Given the description of an element on the screen output the (x, y) to click on. 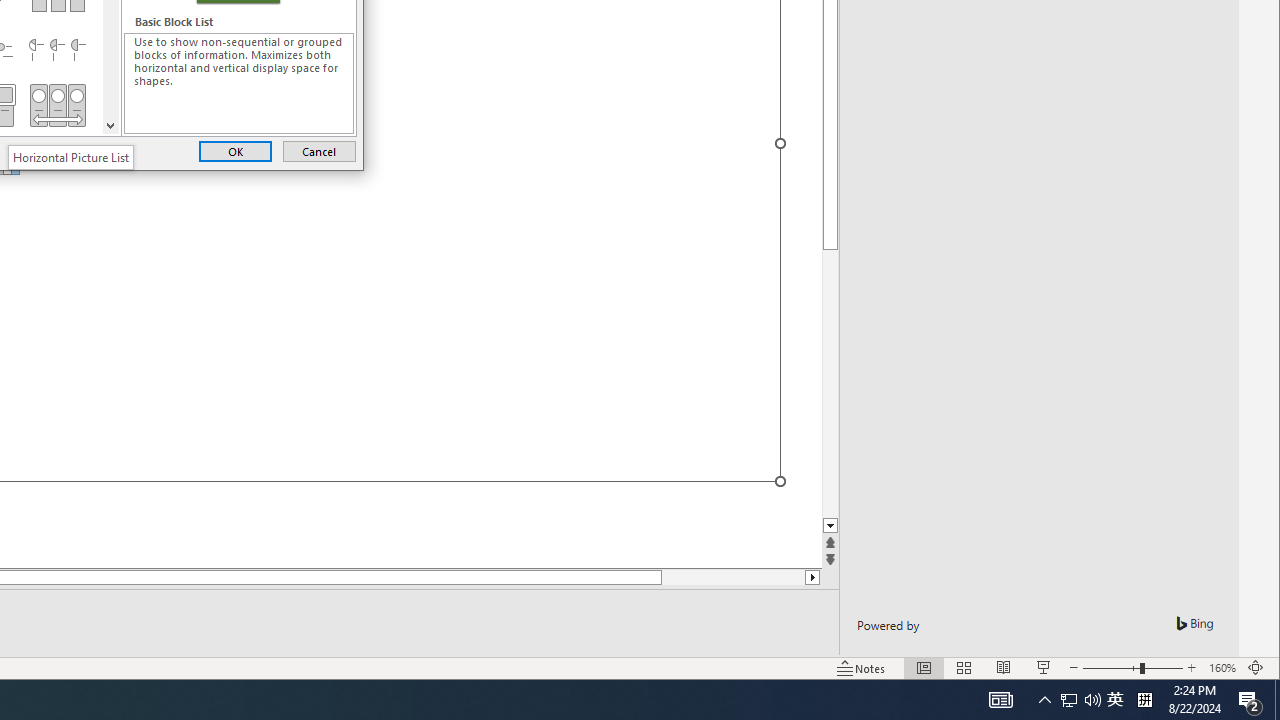
OK (235, 150)
Pie Process (57, 49)
